Given the description of an element on the screen output the (x, y) to click on. 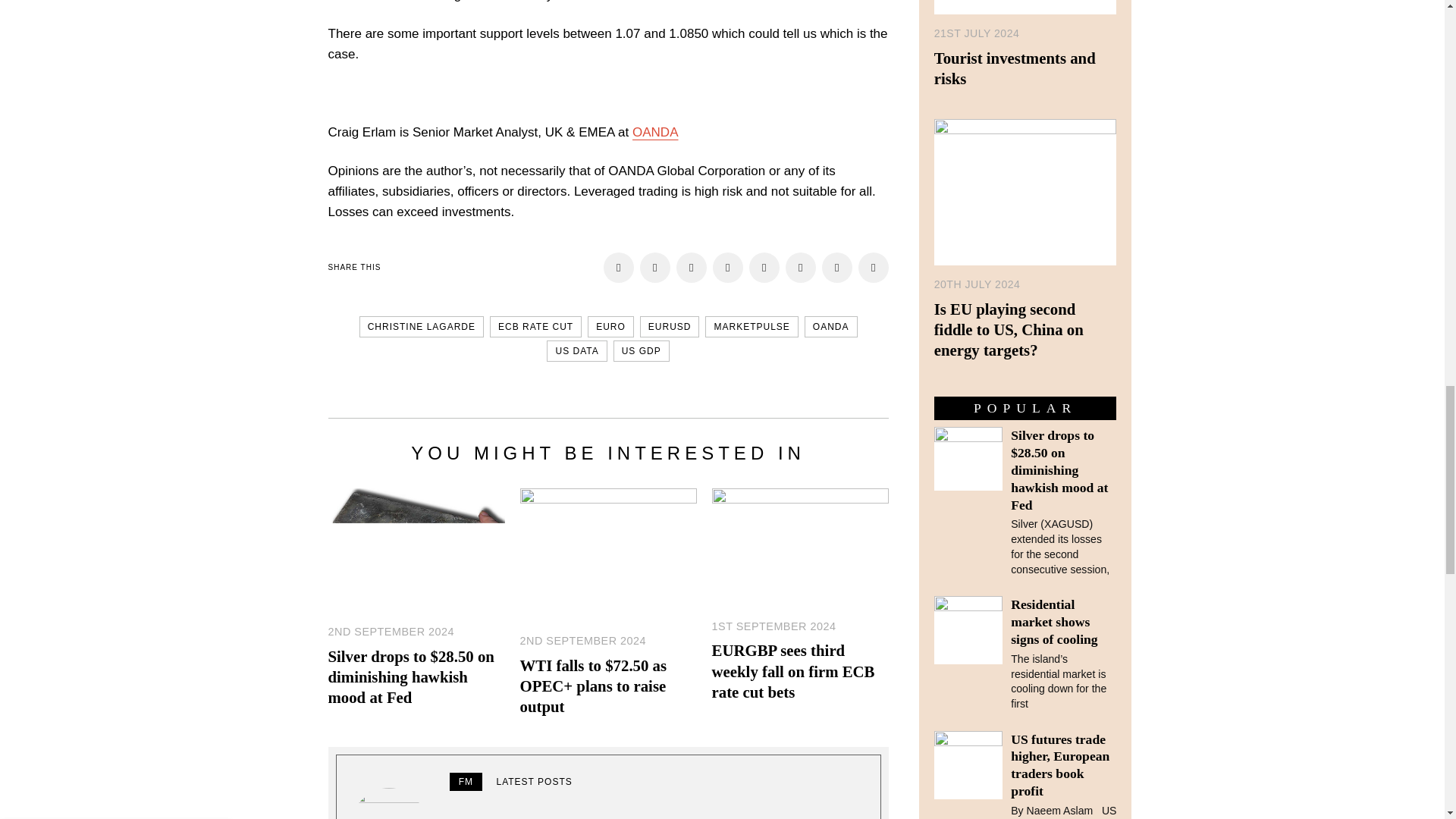
Twitter (691, 267)
Linkedin (763, 267)
Email (836, 267)
Whatsapp (800, 267)
Messenger (654, 267)
Reddit (873, 267)
Facebook (618, 267)
Pinterest (727, 267)
